Given the description of an element on the screen output the (x, y) to click on. 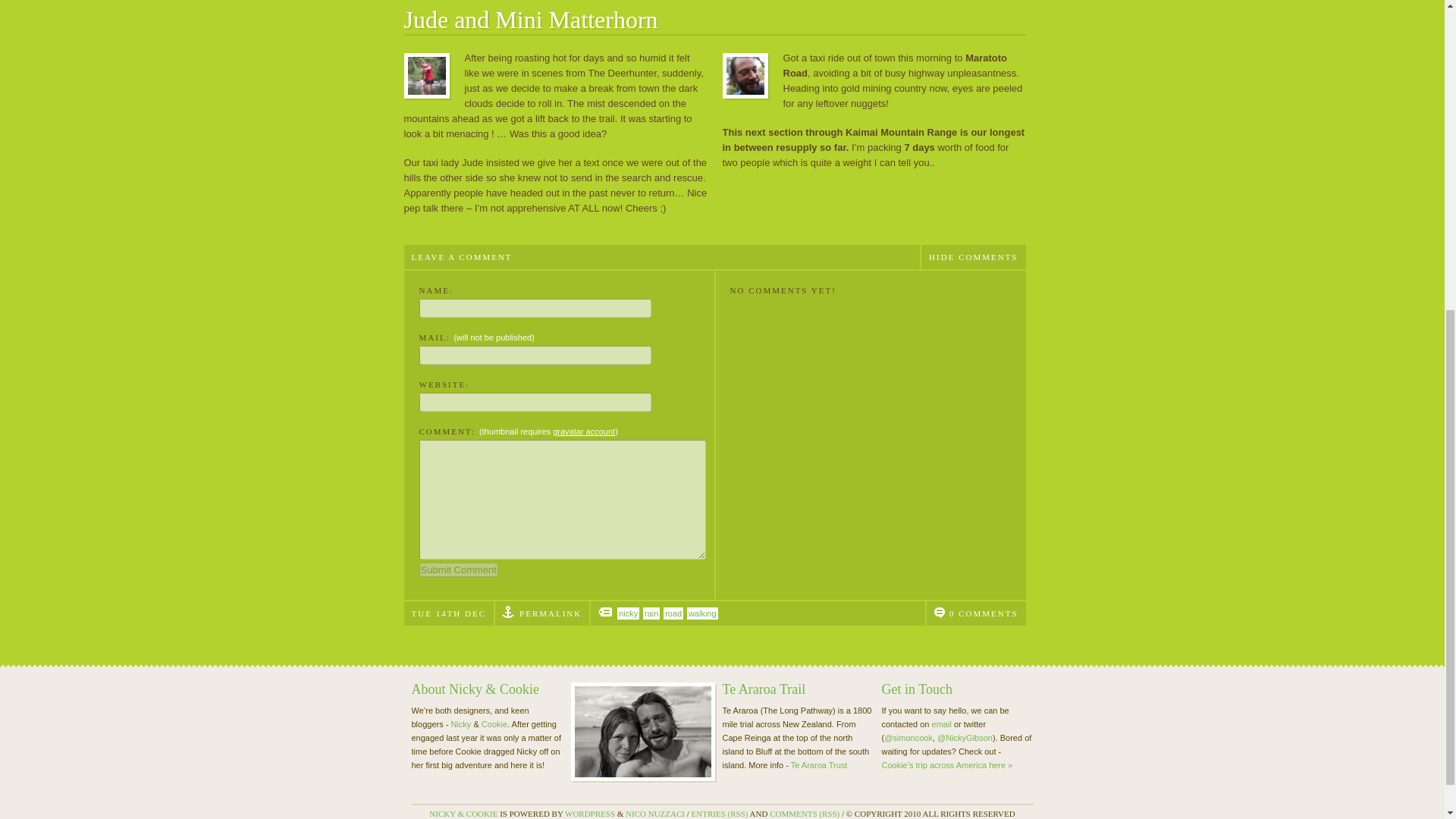
Te Araroa Trust (818, 764)
NICO NUZZACI (655, 813)
HIDE COMMENTS (972, 256)
Jude and Mini Matterhorn (530, 19)
gravatar account (583, 430)
walking (702, 613)
Submit Comment (458, 569)
PERMALINK (549, 613)
Nicky (459, 723)
rain (651, 613)
